Given the description of an element on the screen output the (x, y) to click on. 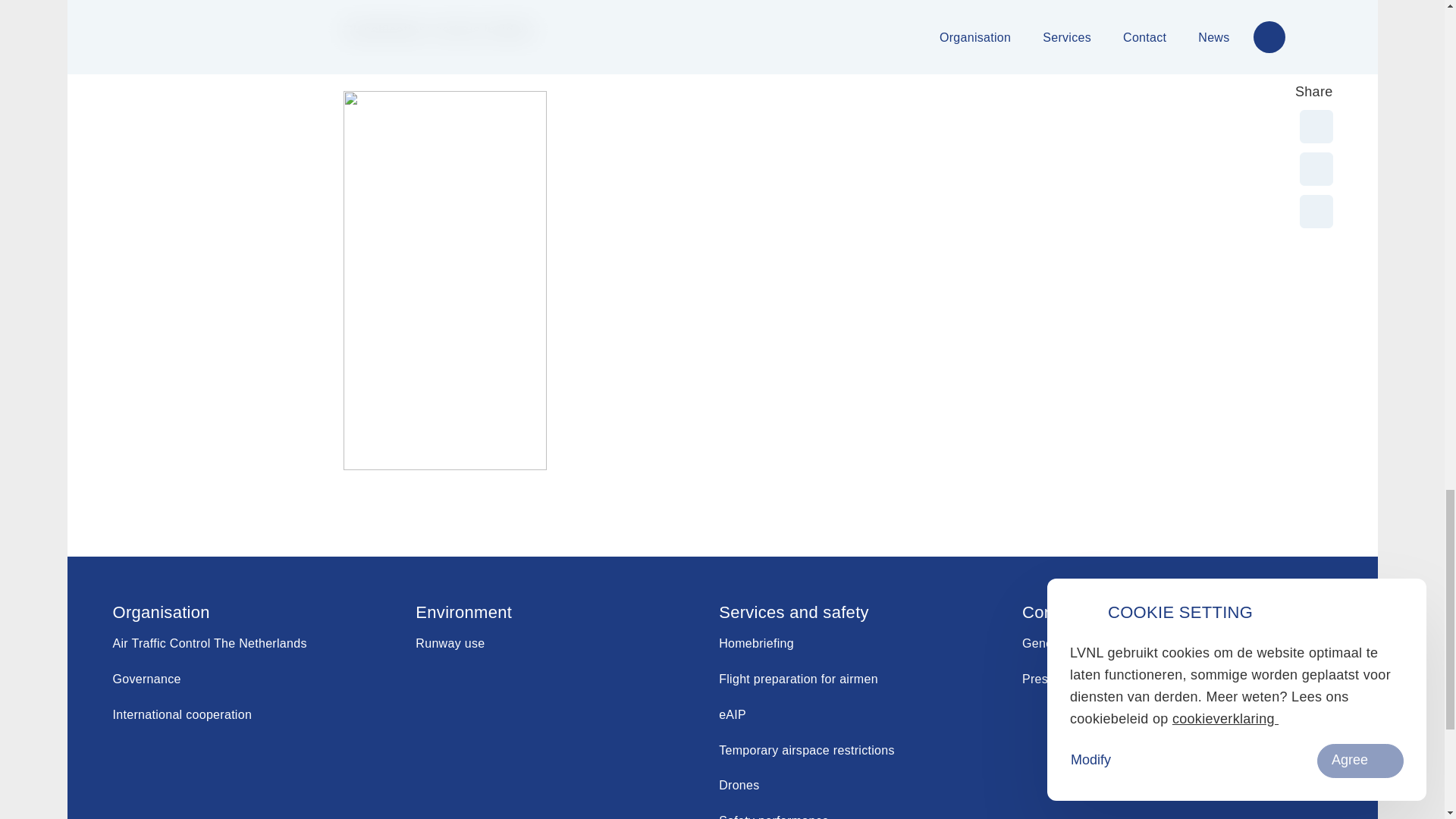
Flight preparation for airmen (798, 678)
Governance (146, 678)
Air Traffic Control The Netherlands (208, 643)
International cooperation (181, 714)
eAIP (732, 714)
Homebriefing (756, 643)
Runway use (449, 643)
Temporary airspace restrictions (807, 749)
